Given the description of an element on the screen output the (x, y) to click on. 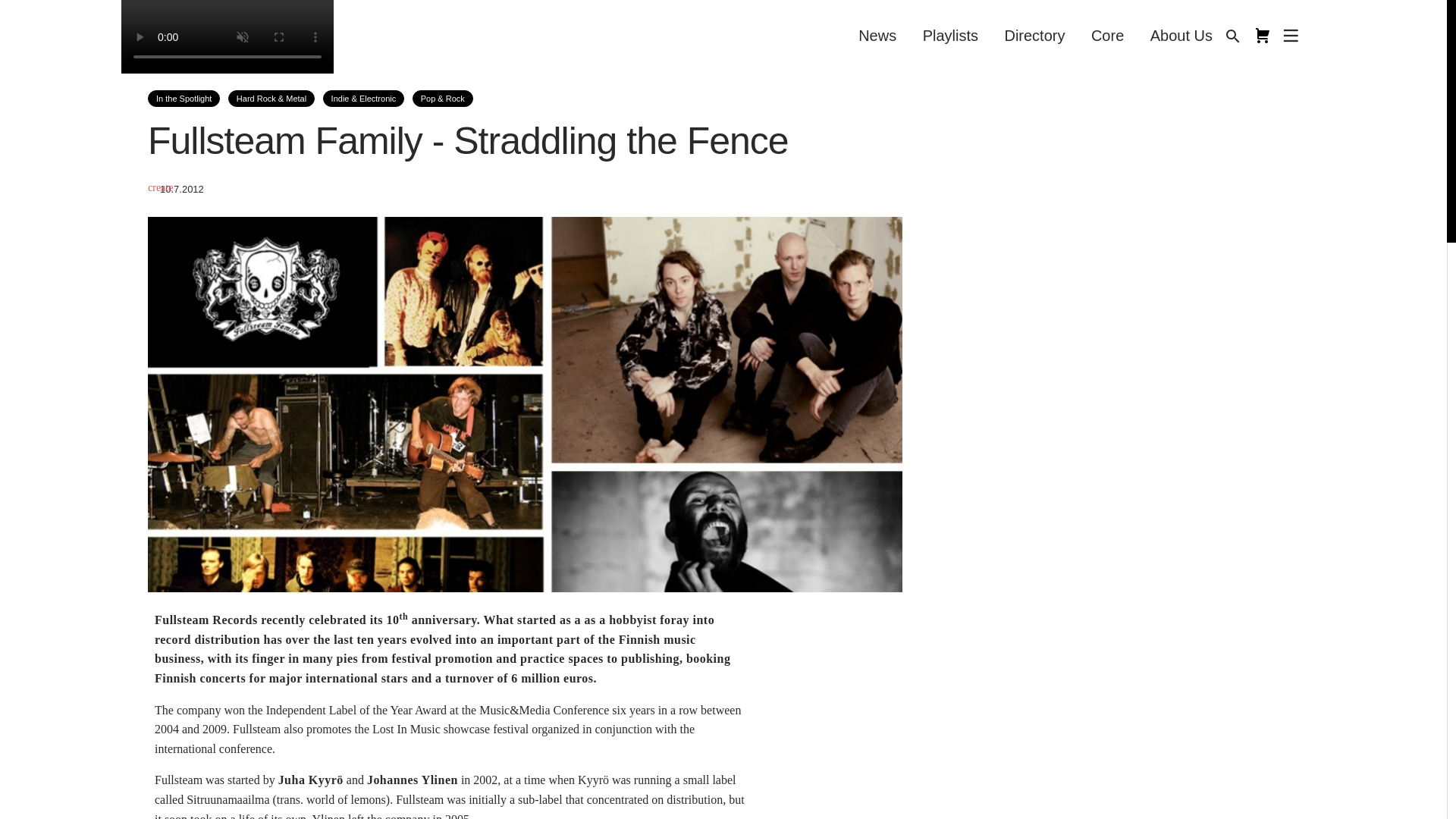
About Us (1181, 35)
News (877, 35)
Core (1107, 35)
Playlists (950, 35)
News (877, 35)
Directory (1033, 35)
Core (1107, 35)
Music Finland Core (1262, 35)
Playlists (950, 35)
About Us (1181, 35)
In the Spotlight (183, 98)
Directory (1033, 35)
